Given the description of an element on the screen output the (x, y) to click on. 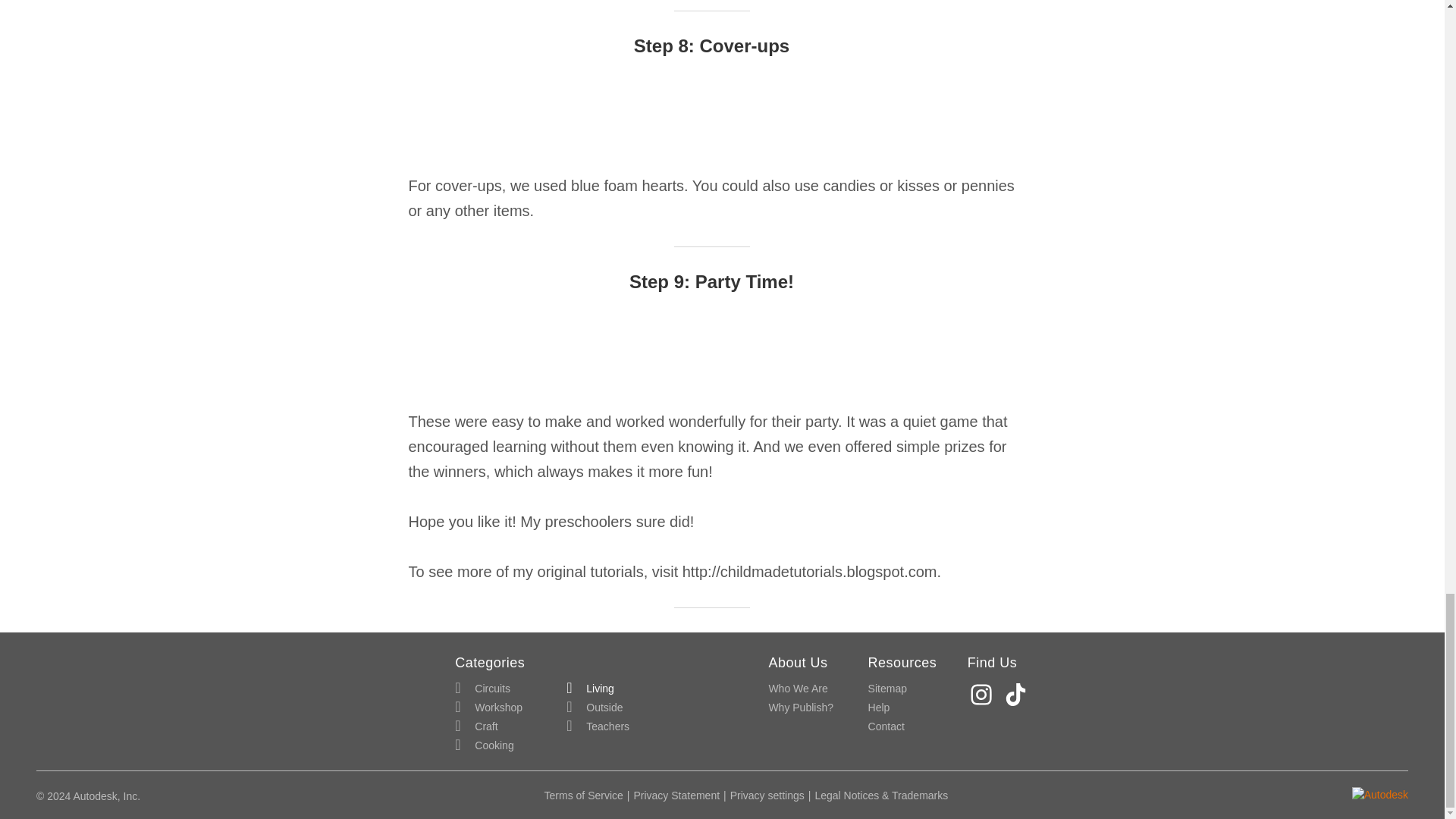
Outside (594, 707)
Circuits (482, 688)
Help (878, 707)
Who We Are (797, 688)
Workshop (488, 707)
Sitemap (887, 688)
TikTok (1018, 694)
Craft (475, 726)
Contact (885, 726)
Terms of Service (583, 795)
